Given the description of an element on the screen output the (x, y) to click on. 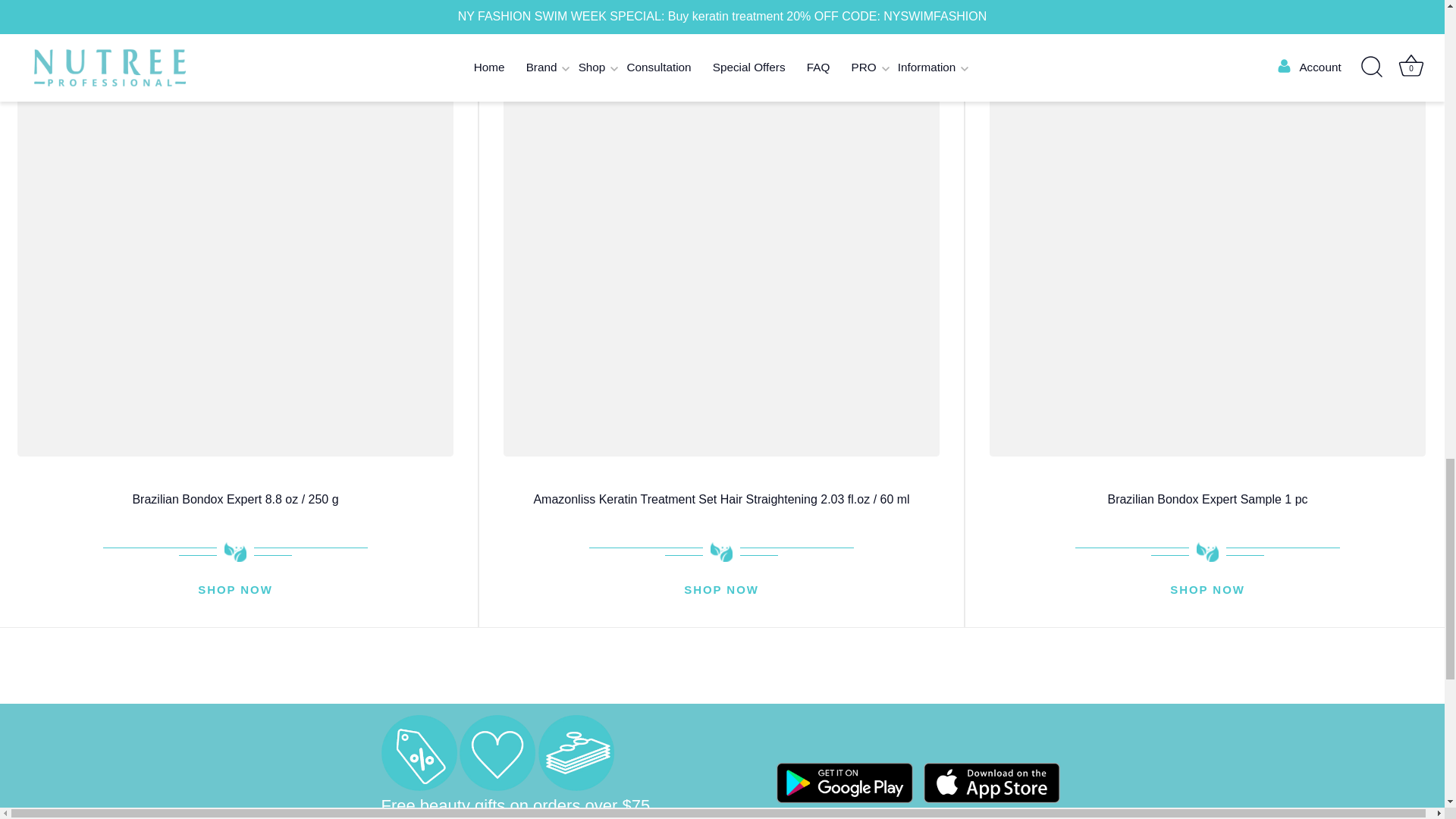
Shop Now (1207, 590)
Shop Now (721, 590)
Shop Now (234, 590)
